Given the description of an element on the screen output the (x, y) to click on. 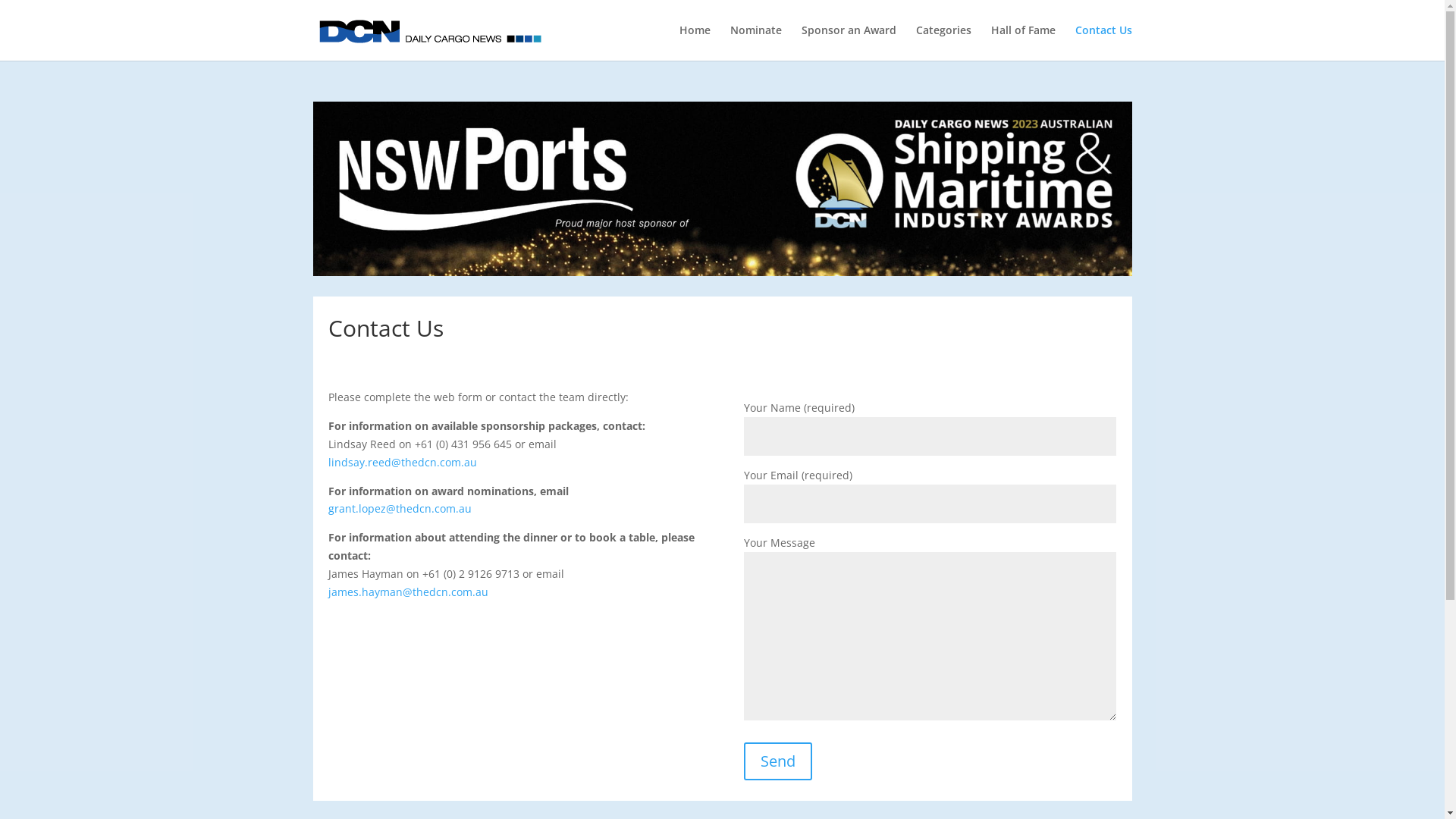
Home Element type: text (694, 42)
DCN-Awards-Sponsor_1500x320 Element type: hover (721, 188)
Contact Us Element type: text (1103, 42)
Categories Element type: text (943, 42)
lindsay.reed@thedcn.com.au Element type: text (401, 462)
Hall of Fame Element type: text (1022, 42)
Send Element type: text (777, 761)
grant.lopez@thedcn.com.au Element type: text (398, 508)
Sponsor an Award Element type: text (847, 42)
Nominate Element type: text (755, 42)
james.hayman@thedcn.com.au Element type: text (407, 591)
